Given the description of an element on the screen output the (x, y) to click on. 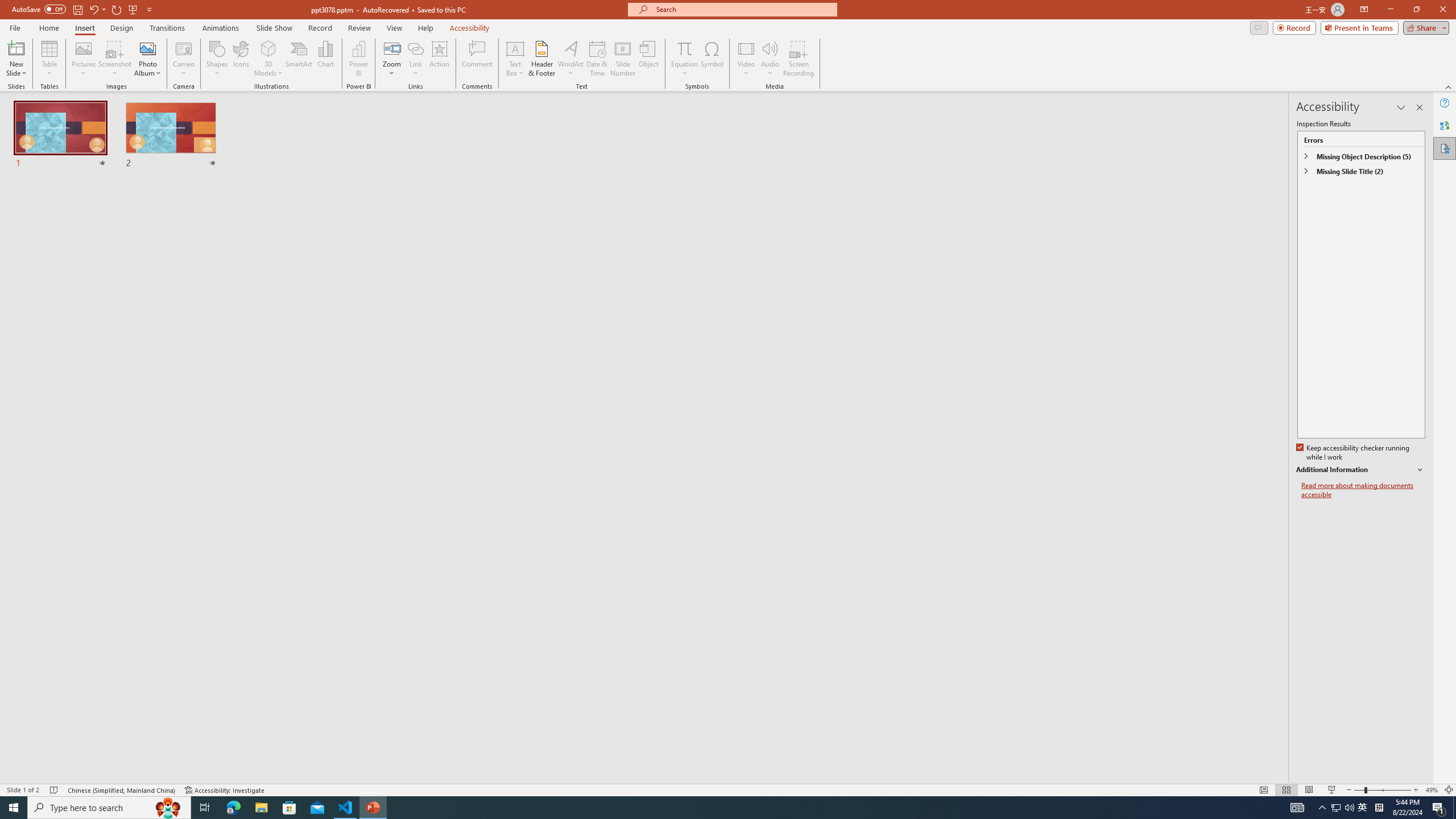
Shapes (216, 58)
Chart... (325, 58)
Symbol... (711, 58)
Cameo (183, 48)
Translator (1444, 125)
Video (745, 58)
Additional Information (1360, 469)
Zoom 49% (1431, 790)
Table (49, 58)
